Given the description of an element on the screen output the (x, y) to click on. 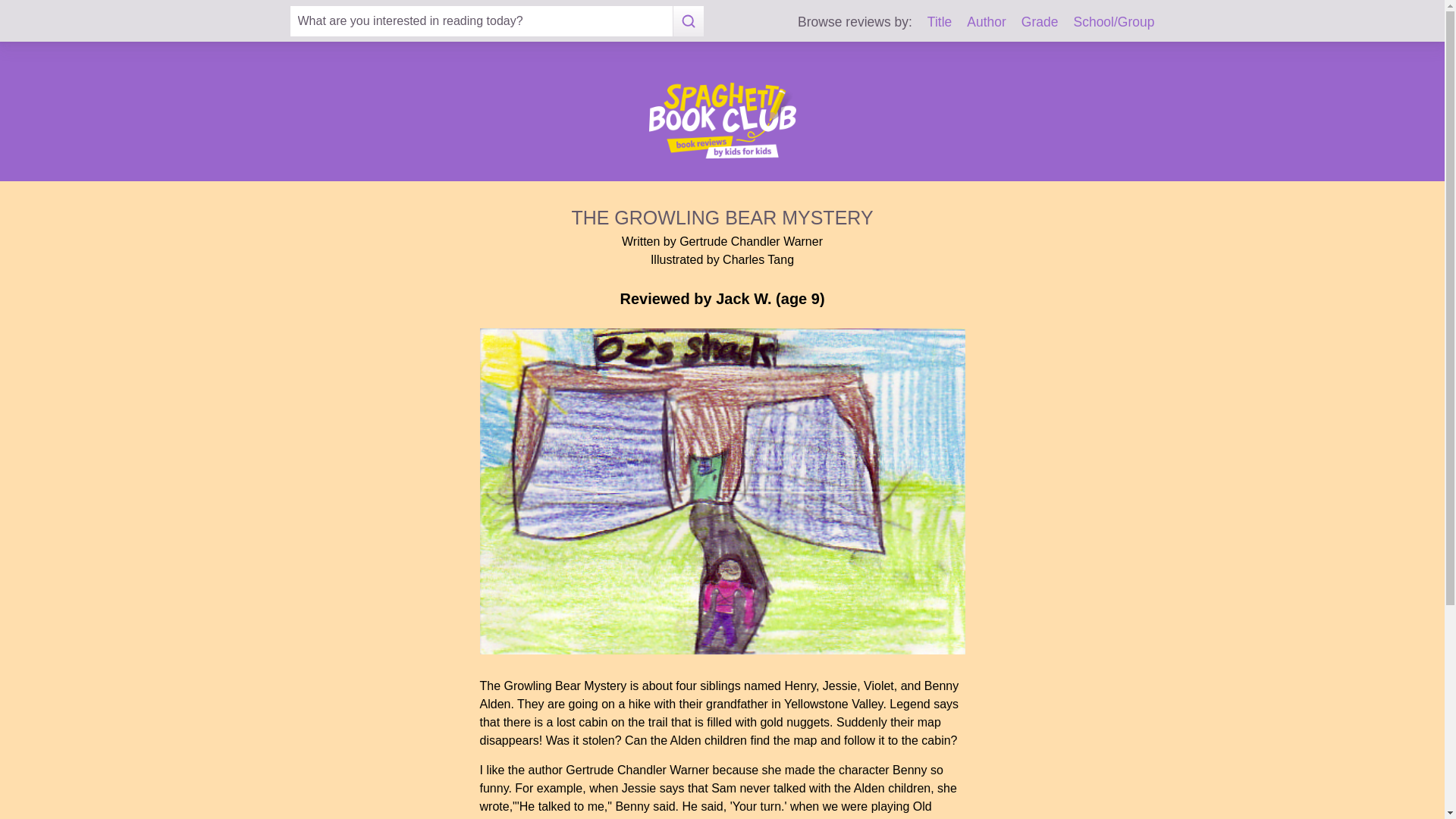
Grade (1040, 21)
Title (939, 21)
Author (986, 21)
